Given the description of an element on the screen output the (x, y) to click on. 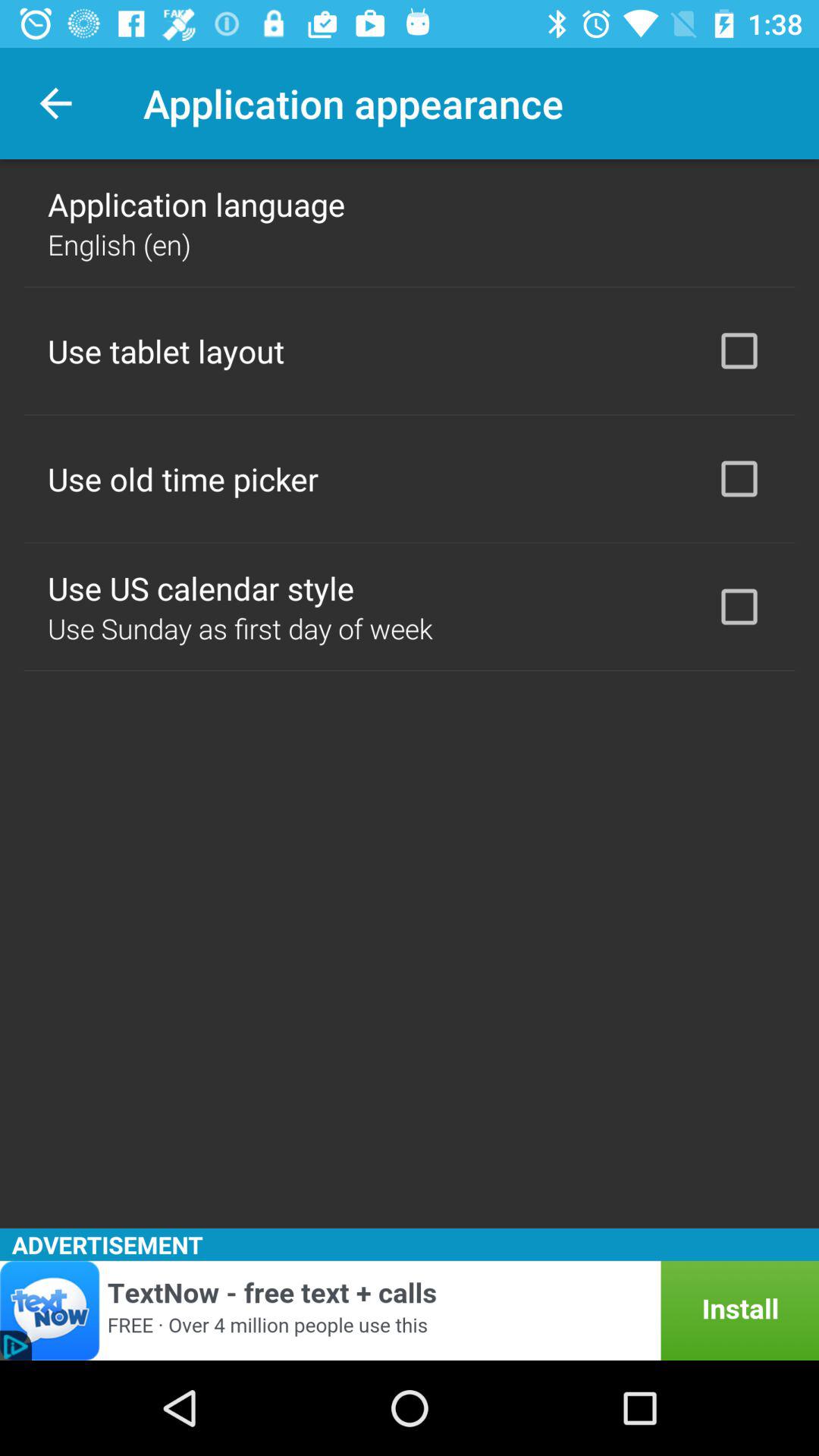
check option (739, 350)
